Given the description of an element on the screen output the (x, y) to click on. 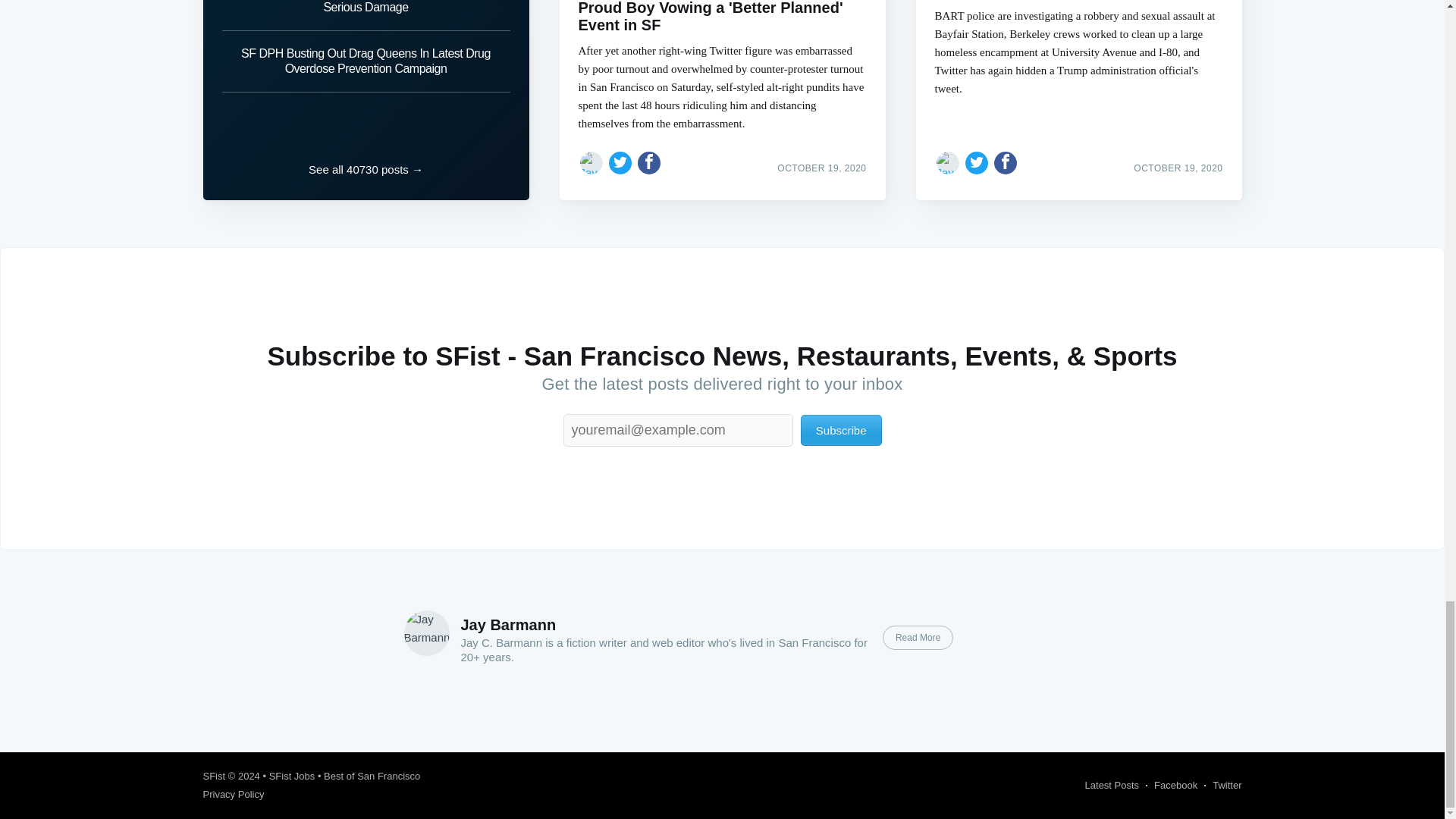
Share on Twitter (620, 162)
Share on Facebook (1004, 162)
Share on Facebook (649, 162)
Share on Twitter (976, 162)
